Given the description of an element on the screen output the (x, y) to click on. 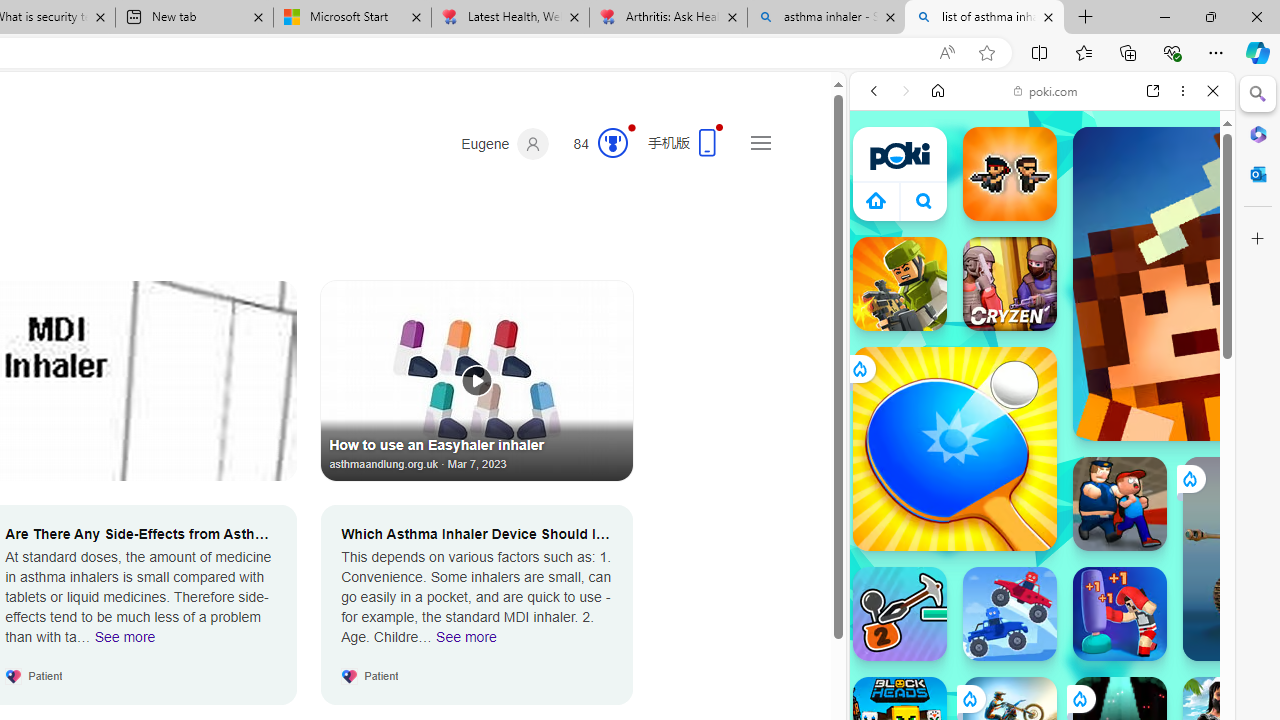
Search Filter, IMAGES (939, 228)
Two Player Games (1042, 567)
Web scope (882, 180)
Escape From School Escape From School (1119, 503)
Search Filter, Search Tools (1093, 228)
Class: aprWdaSScyiJf4Jvmsx9 (875, 200)
Poki - Free Online Games - Play Now! (1034, 309)
Preferences (1189, 228)
Show More Two Player Games (1164, 570)
Sports Games (1042, 665)
Sports Games (1042, 666)
